Given the description of an element on the screen output the (x, y) to click on. 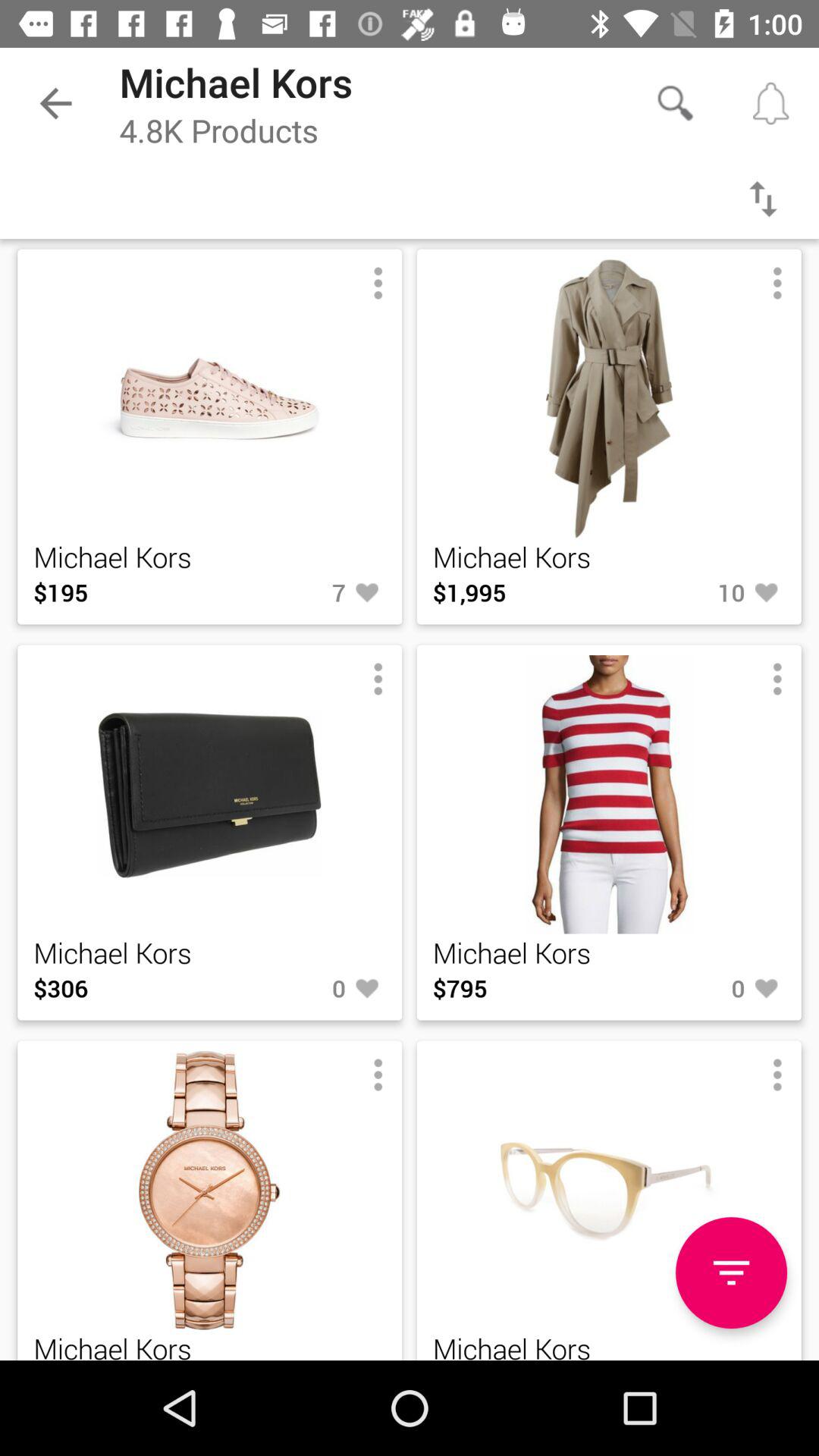
open the icon next to the michael kors icon (731, 1272)
